Given the description of an element on the screen output the (x, y) to click on. 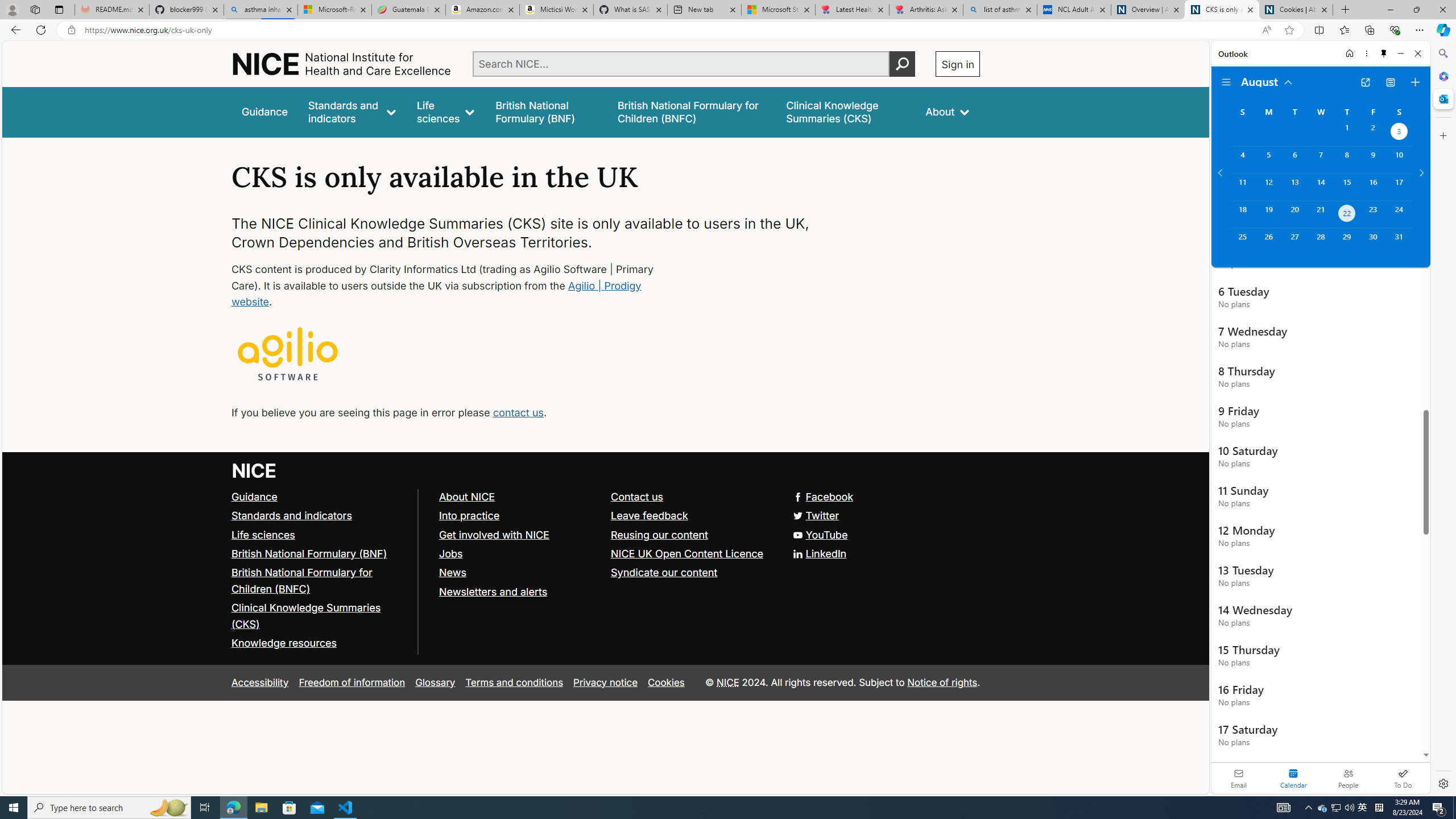
Life sciences (446, 111)
British National Formulary for Children (BNFC) (319, 580)
About NICE (518, 496)
Leave feedback (692, 515)
Thursday, August 15, 2024.  (1346, 186)
Guidance (319, 496)
Sunday, August 4, 2024.  (1242, 159)
Wednesday, August 28, 2024.  (1320, 241)
About NICE (466, 496)
LinkedIn (820, 553)
